Given the description of an element on the screen output the (x, y) to click on. 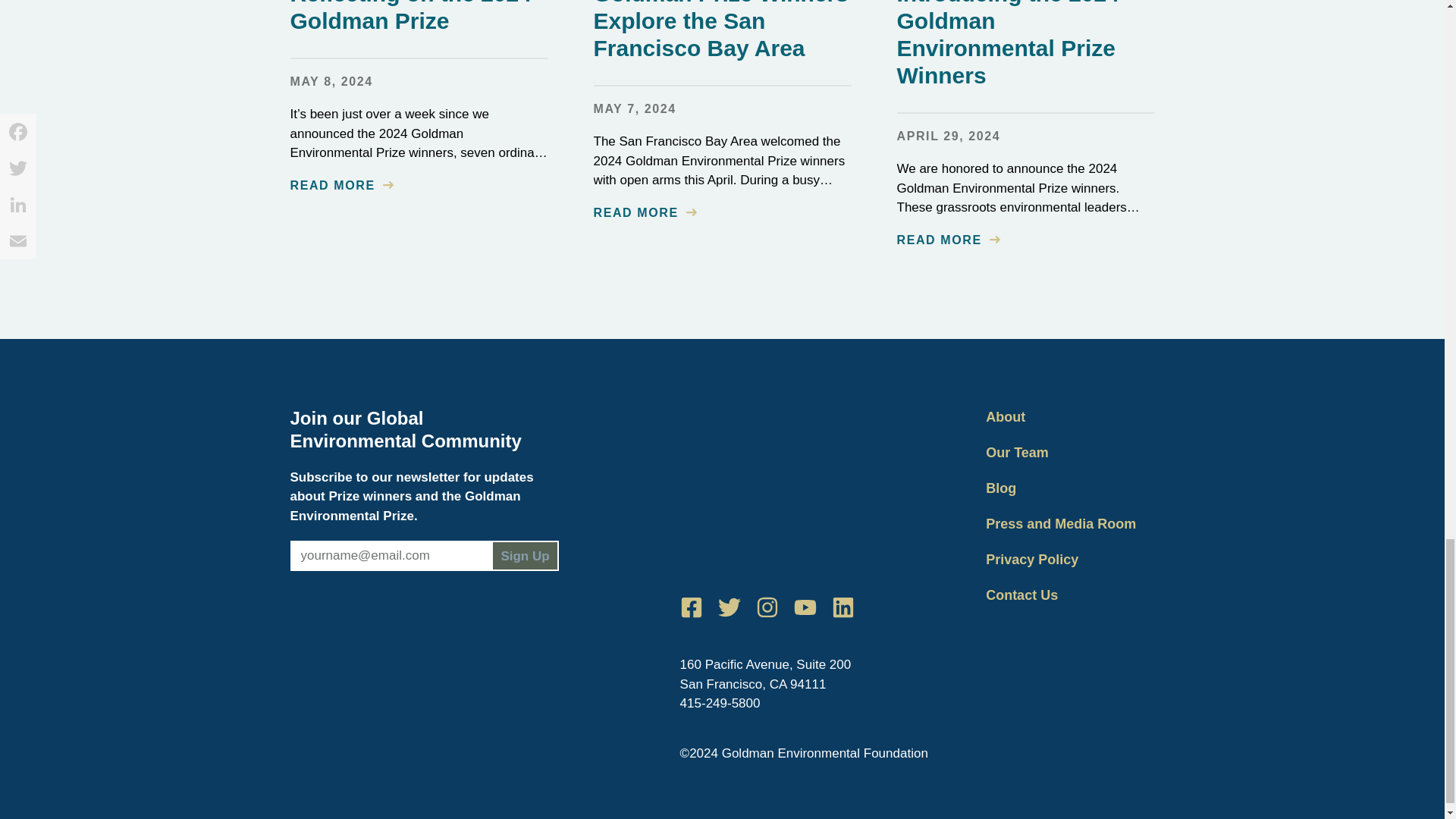
Goldman Prize Winners Explore the San Francisco Bay Area (719, 30)
Sign Up (524, 555)
READ MORE (643, 212)
Introducing the 2024 Goldman Environmental Prize Winners (1007, 43)
Reflecting on the 2024 Goldman Prize (410, 16)
Sign Up (524, 555)
READ MORE (947, 240)
READ MORE (341, 185)
